Given the description of an element on the screen output the (x, y) to click on. 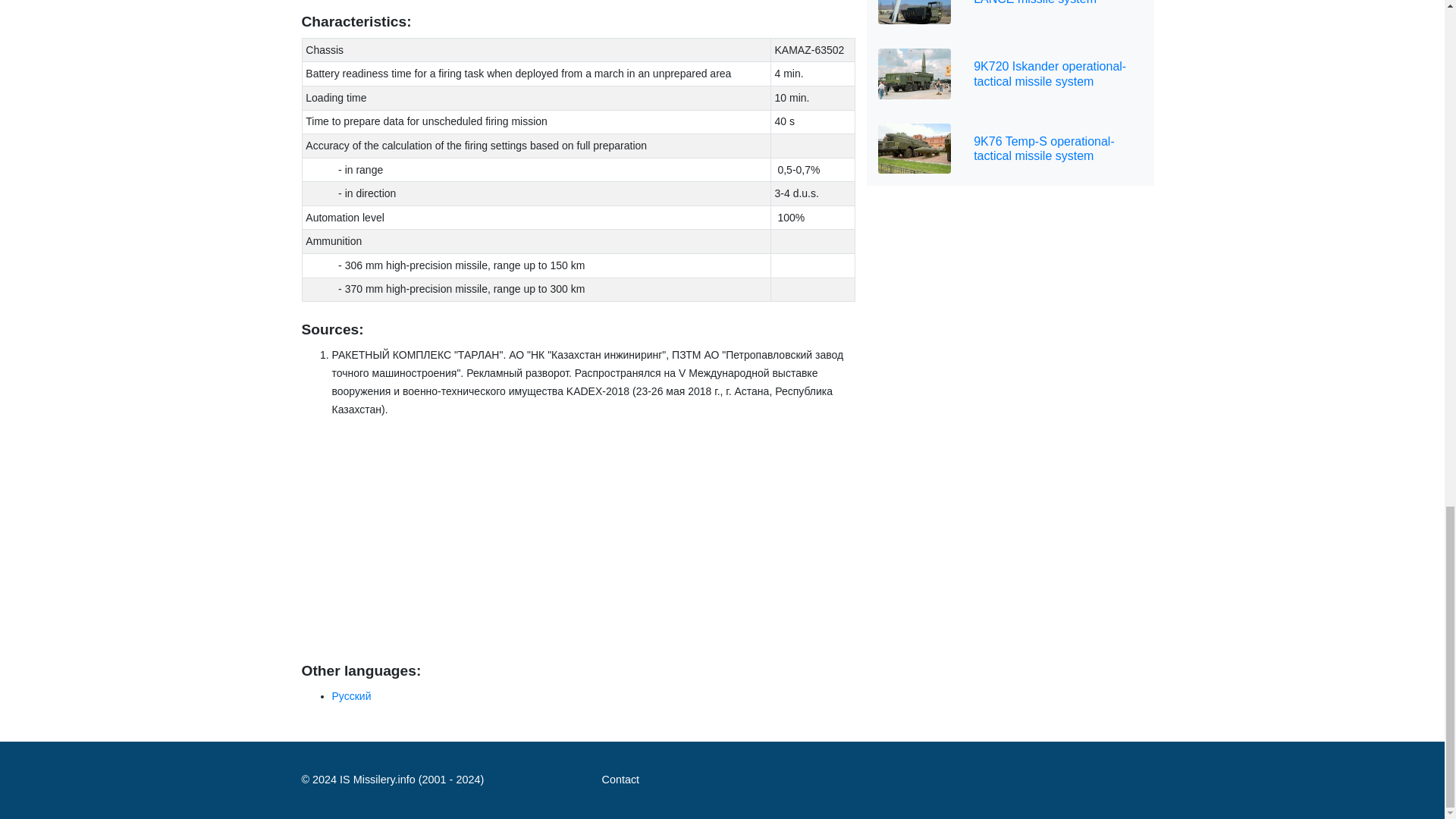
LANCE missile system (1010, 18)
9K720 Iskander operational-tactical missile system (1010, 73)
9K76 Temp-S operational-tactical missile system (1010, 148)
Advertisement (578, 536)
Contact (619, 780)
